Given the description of an element on the screen output the (x, y) to click on. 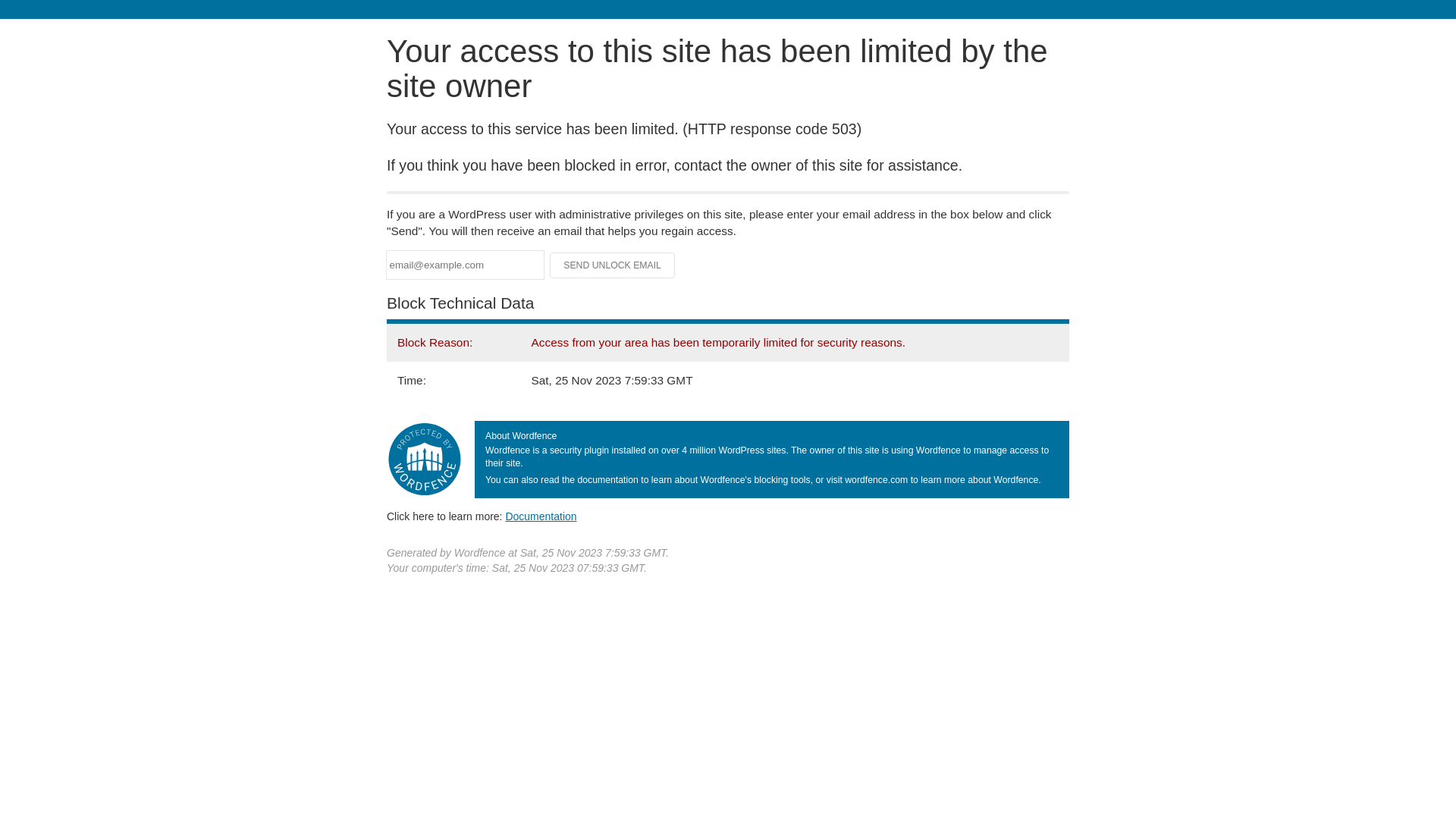
Documentation Element type: text (540, 516)
Send Unlock Email Element type: text (612, 265)
